Given the description of an element on the screen output the (x, y) to click on. 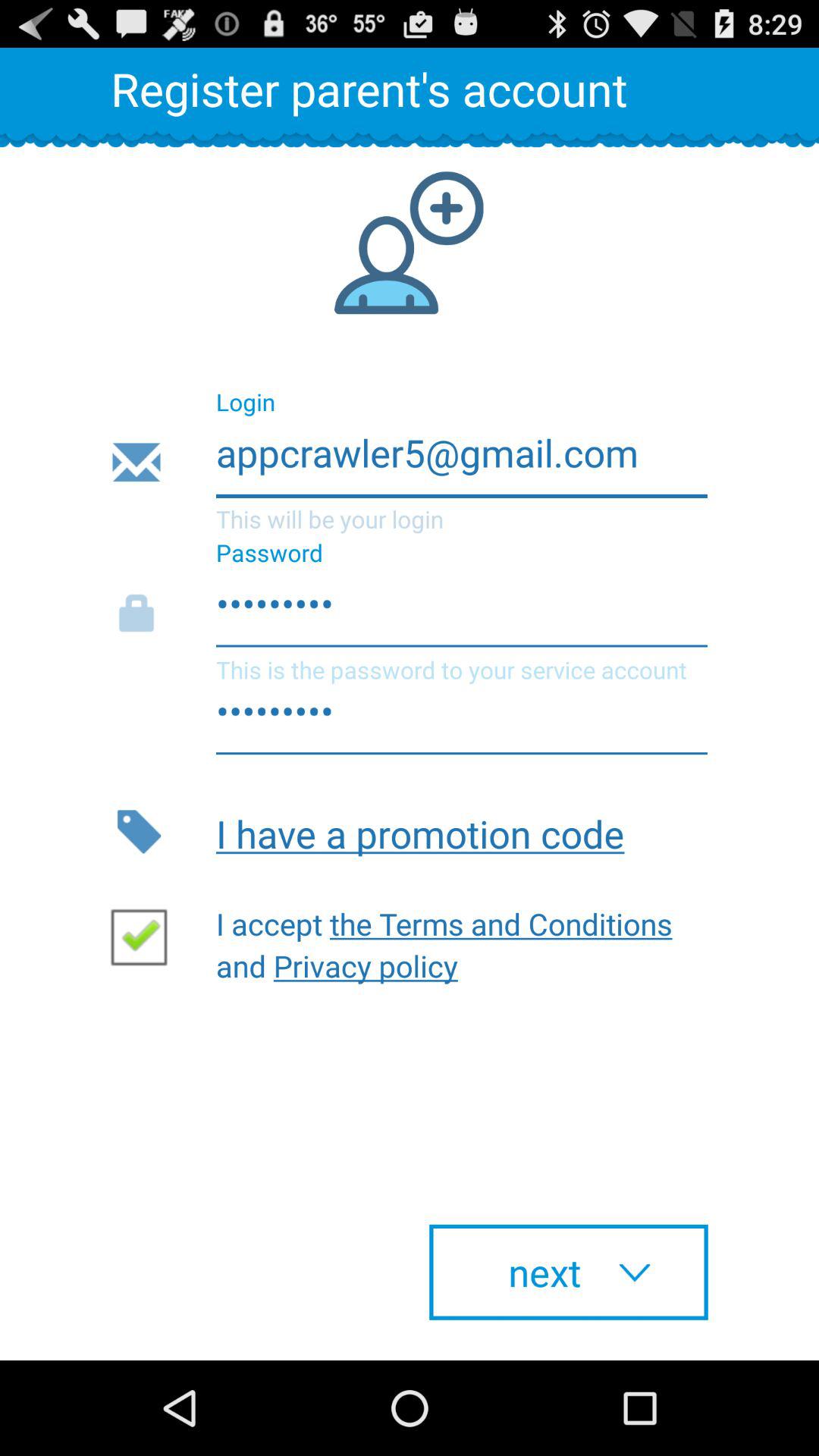
click the appcrawler5@gmail.com item (408, 462)
